Given the description of an element on the screen output the (x, y) to click on. 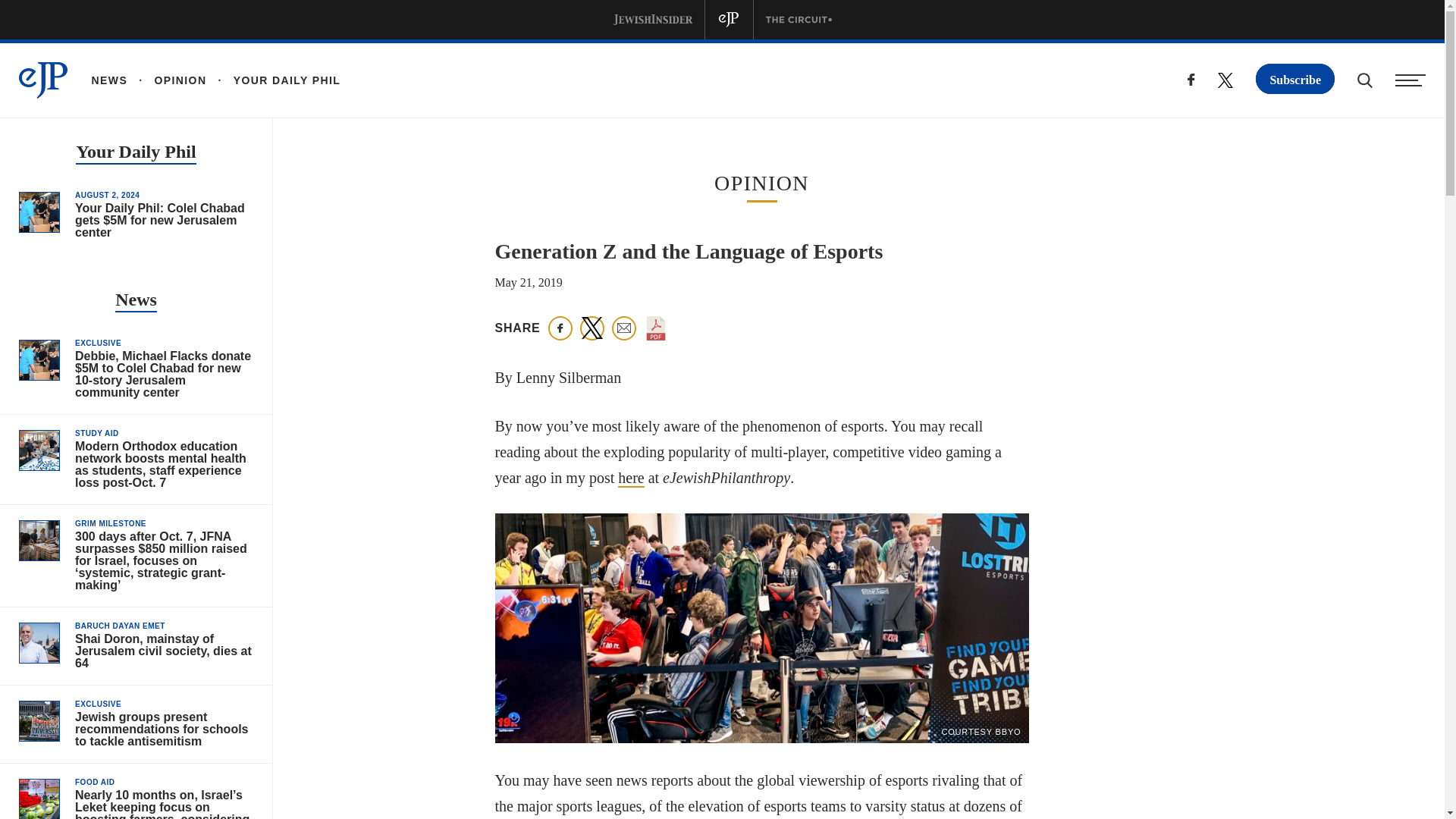
Subscribe (1295, 78)
OPINION (167, 80)
NEWS (109, 80)
Your Daily Phil (135, 153)
here (630, 478)
YOUR DAILY PHIL (273, 80)
News (136, 301)
